Given the description of an element on the screen output the (x, y) to click on. 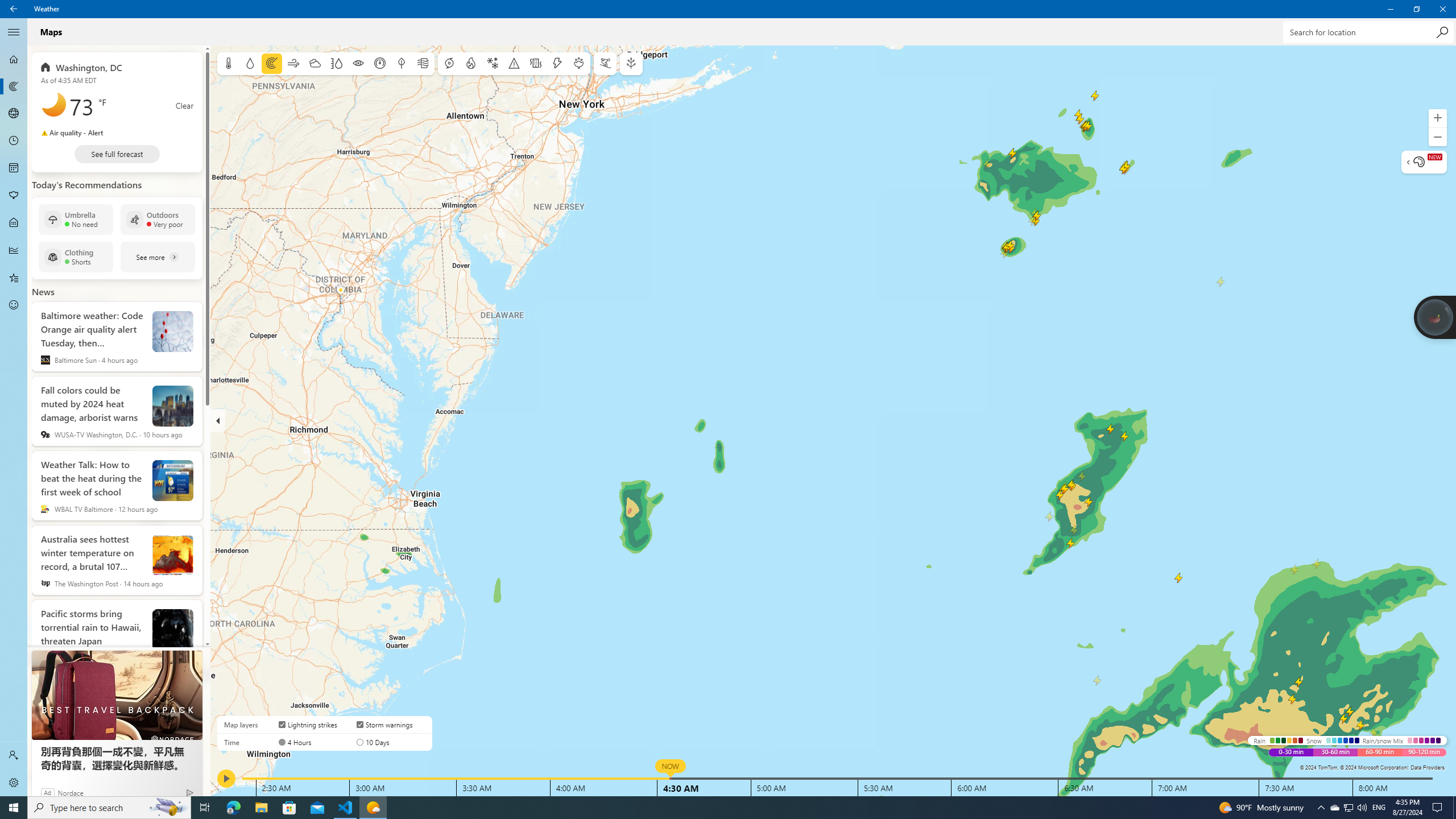
Historical Weather - Not Selected (13, 249)
3D Maps - Not Selected (13, 113)
Monthly Forecast - Not Selected (13, 167)
Running applications (706, 807)
Historical Weather - Not Selected (13, 249)
Pollen - Not Selected (13, 195)
Monthly Forecast - Not Selected (13, 167)
Sign in (13, 755)
